Given the description of an element on the screen output the (x, y) to click on. 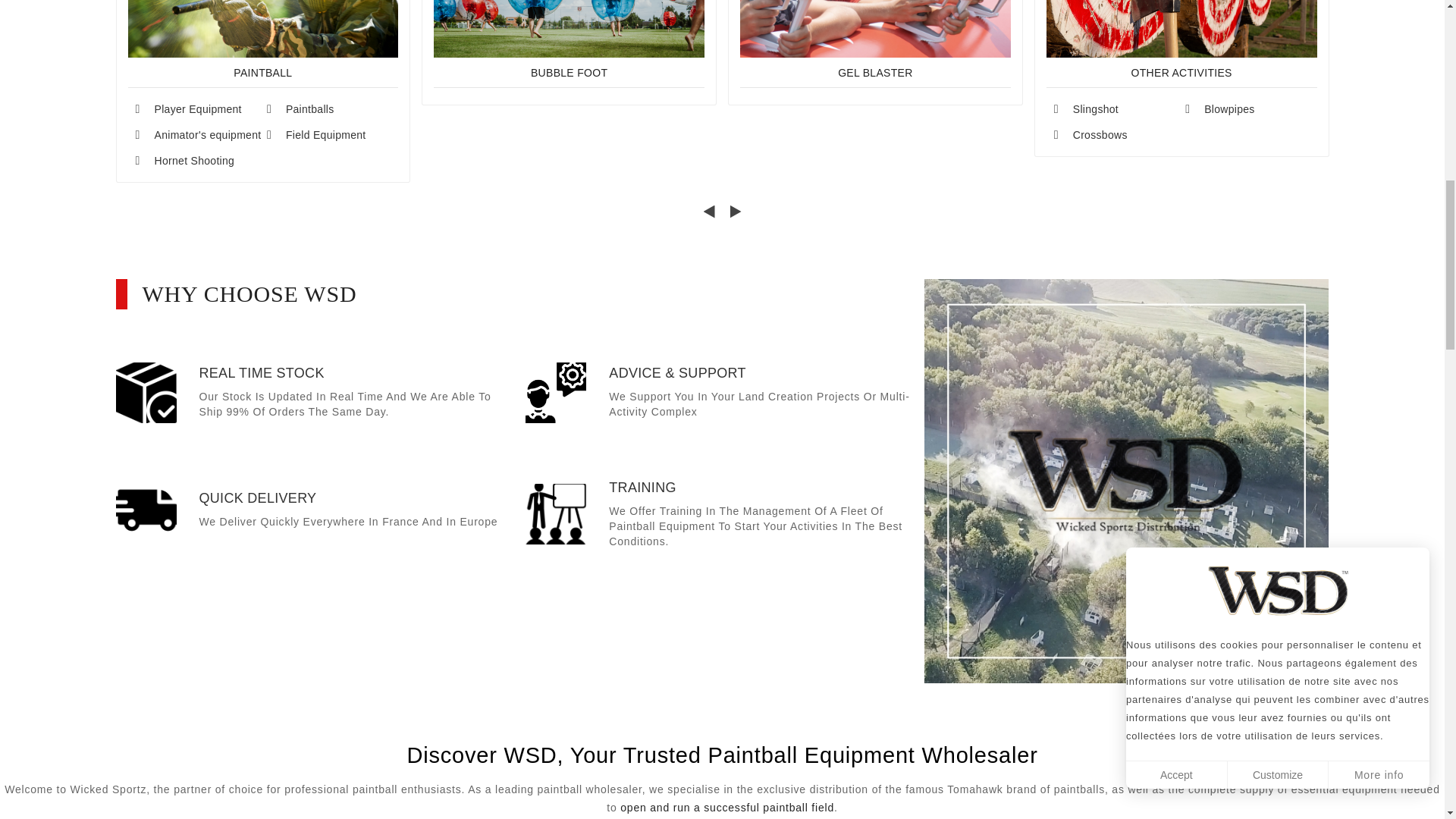
 Paintball  (262, 72)
Hornet Shooting (197, 167)
Bubble Foot (569, 72)
Paintballs (328, 115)
Field Equipment (328, 141)
Player Equipment (197, 115)
Animator's equipment (197, 141)
